Given the description of an element on the screen output the (x, y) to click on. 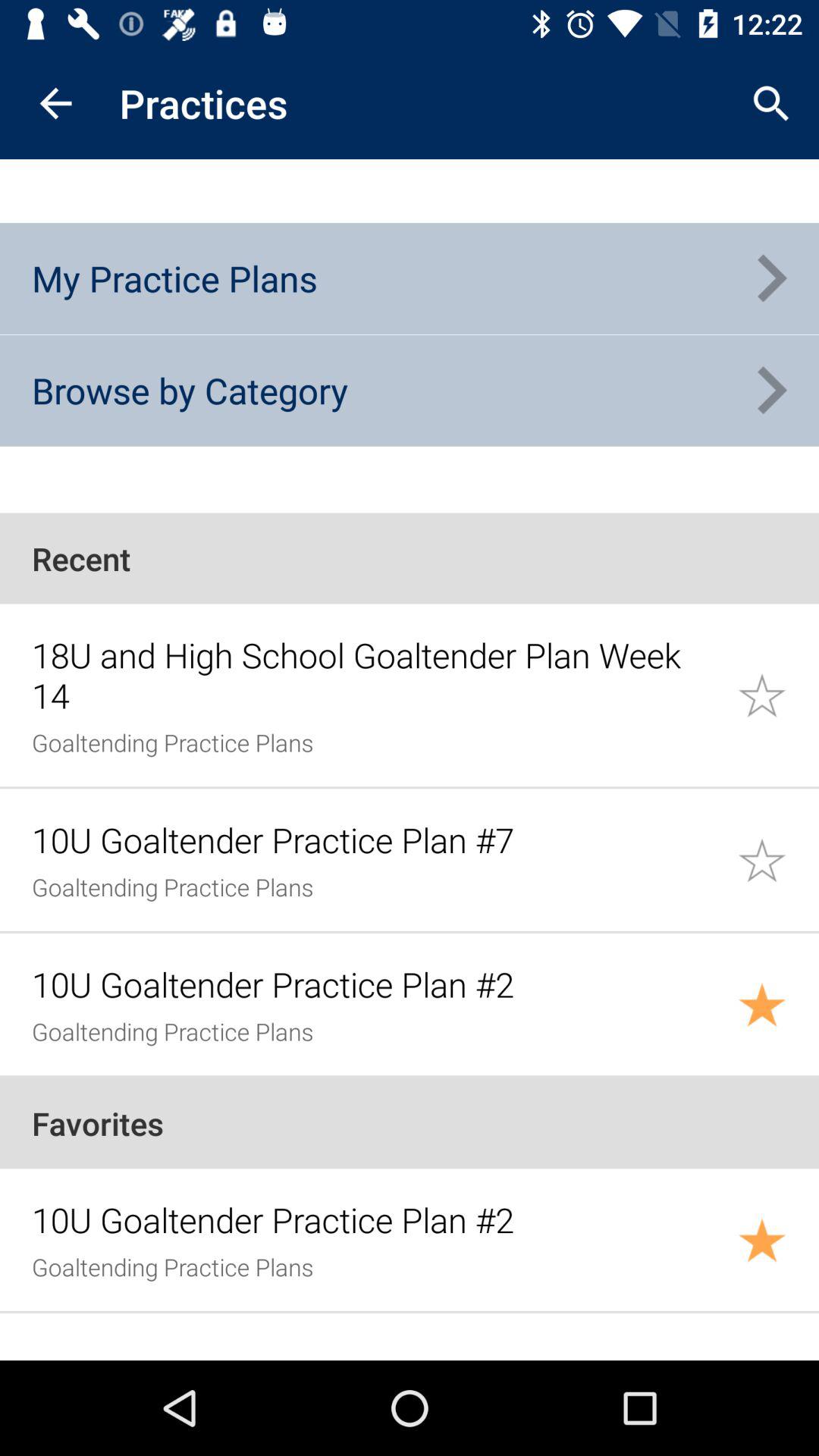
open 18u and high (376, 674)
